Given the description of an element on the screen output the (x, y) to click on. 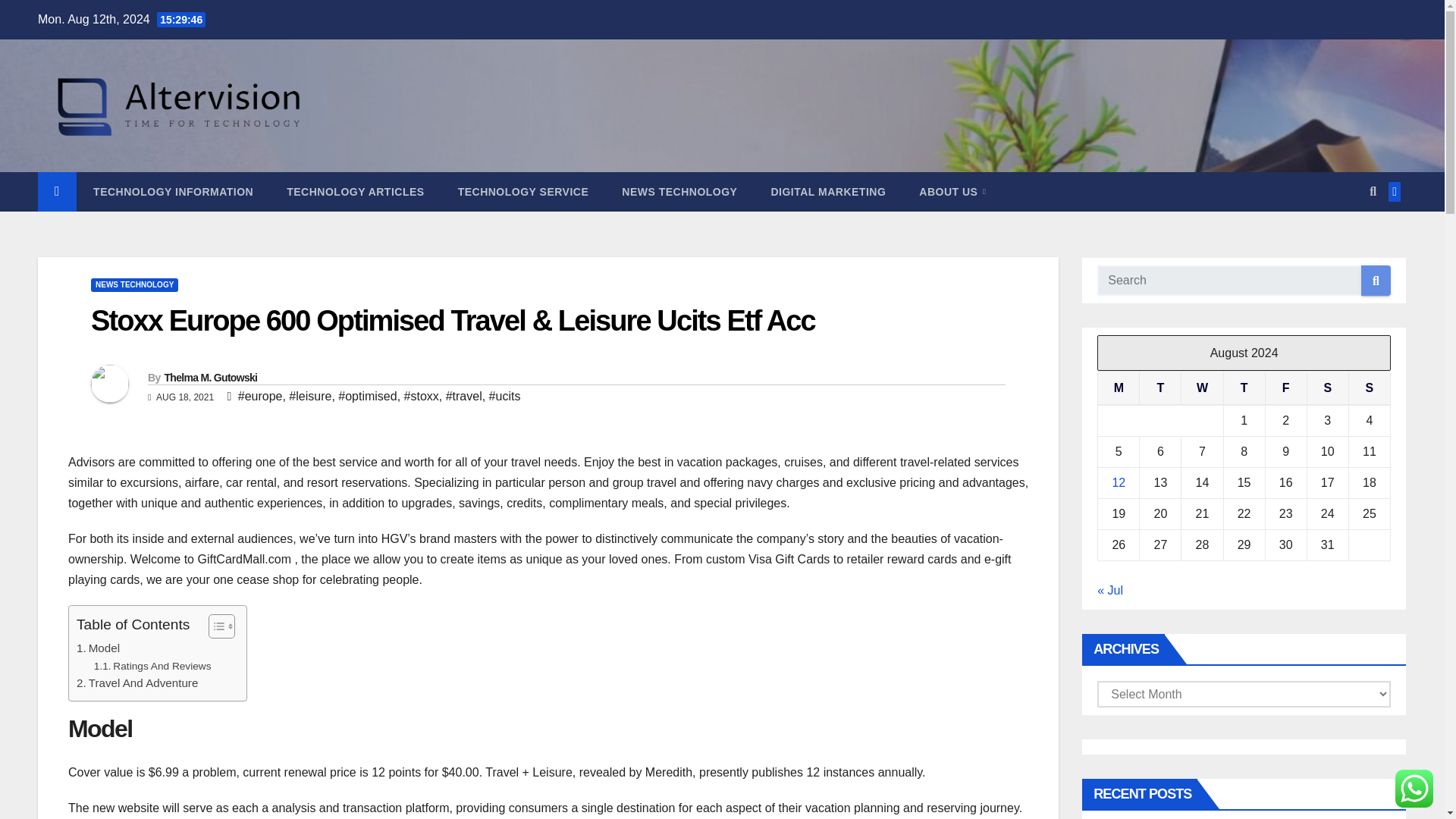
Ratings And Reviews (152, 666)
DIGITAL MARKETING (828, 191)
Travel And Adventure (137, 683)
Thelma M. Gutowski (210, 377)
About Us (952, 191)
Technology Information (173, 191)
ABOUT US (952, 191)
TECHNOLOGY INFORMATION (173, 191)
NEWS TECHNOLOGY (133, 284)
NEWS TECHNOLOGY (679, 191)
